Given the description of an element on the screen output the (x, y) to click on. 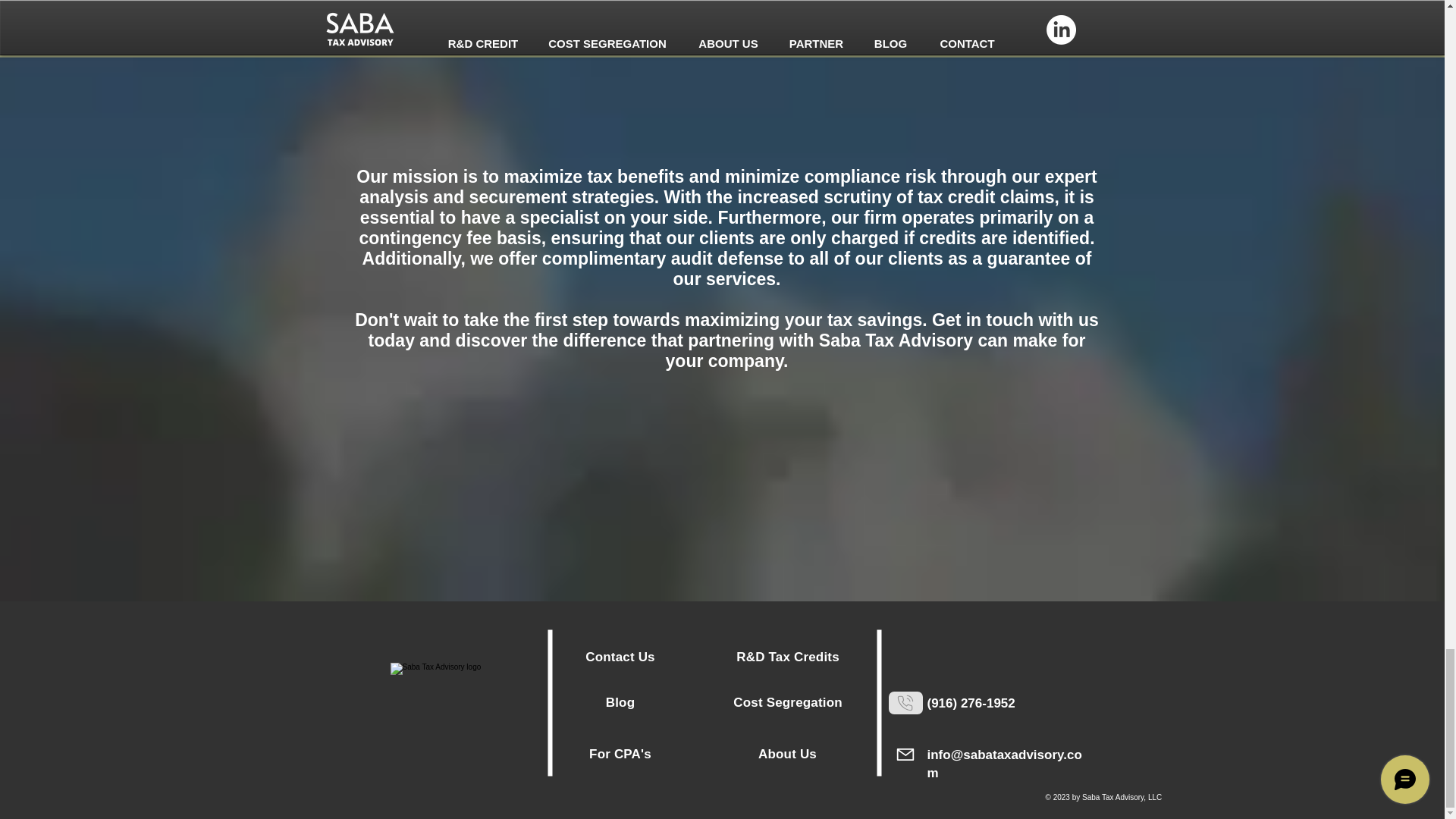
Blog (619, 702)
Cost Segregation  (789, 702)
For CPA's (619, 753)
About Us (787, 753)
Contact Us (619, 657)
